Given the description of an element on the screen output the (x, y) to click on. 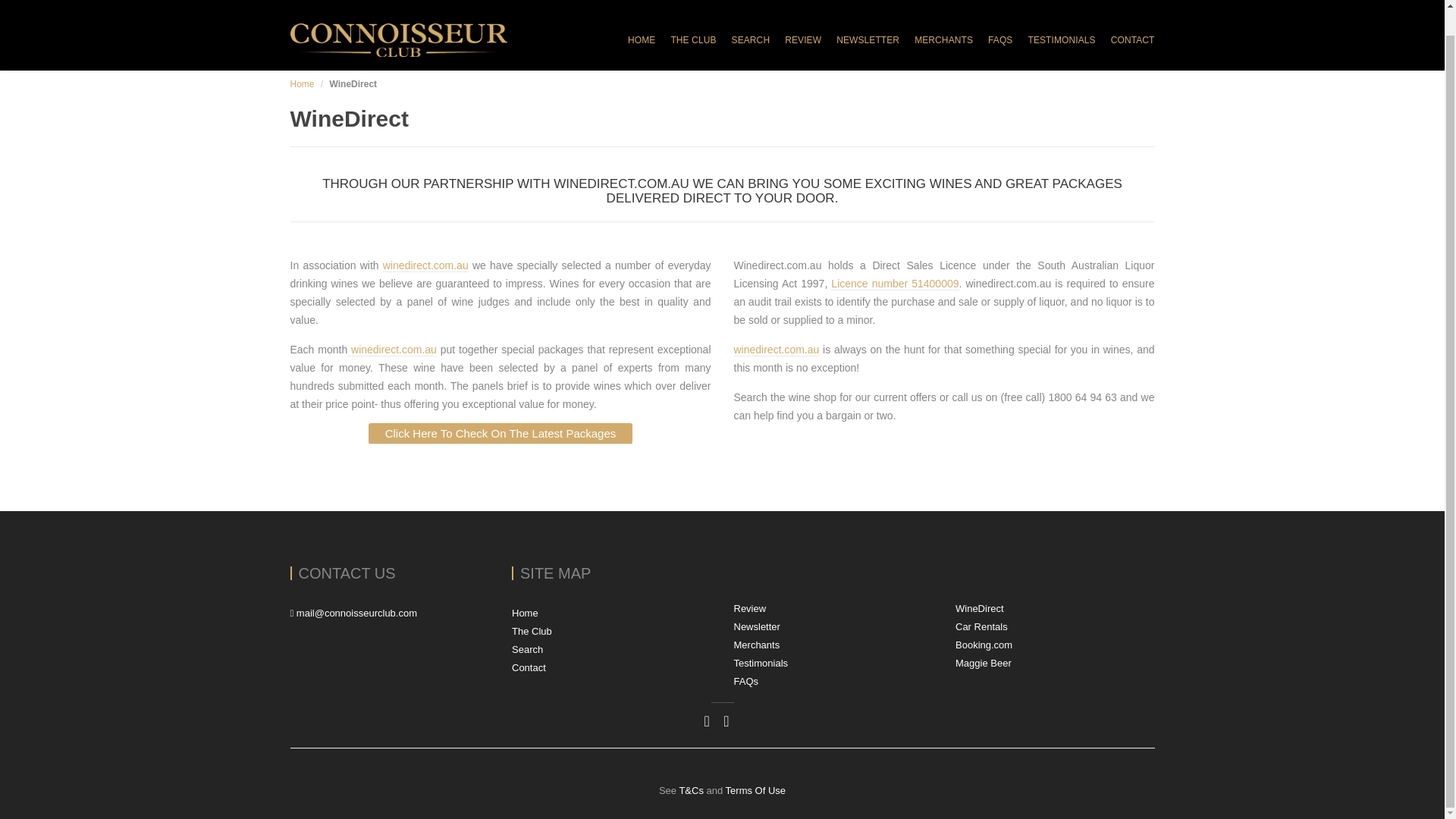
MERCHANTS (943, 39)
THE CLUB (692, 39)
NEWSLETTER (867, 39)
Home (301, 83)
TESTIMONIALS (1061, 39)
winedirect.com.au (425, 265)
